Given the description of an element on the screen output the (x, y) to click on. 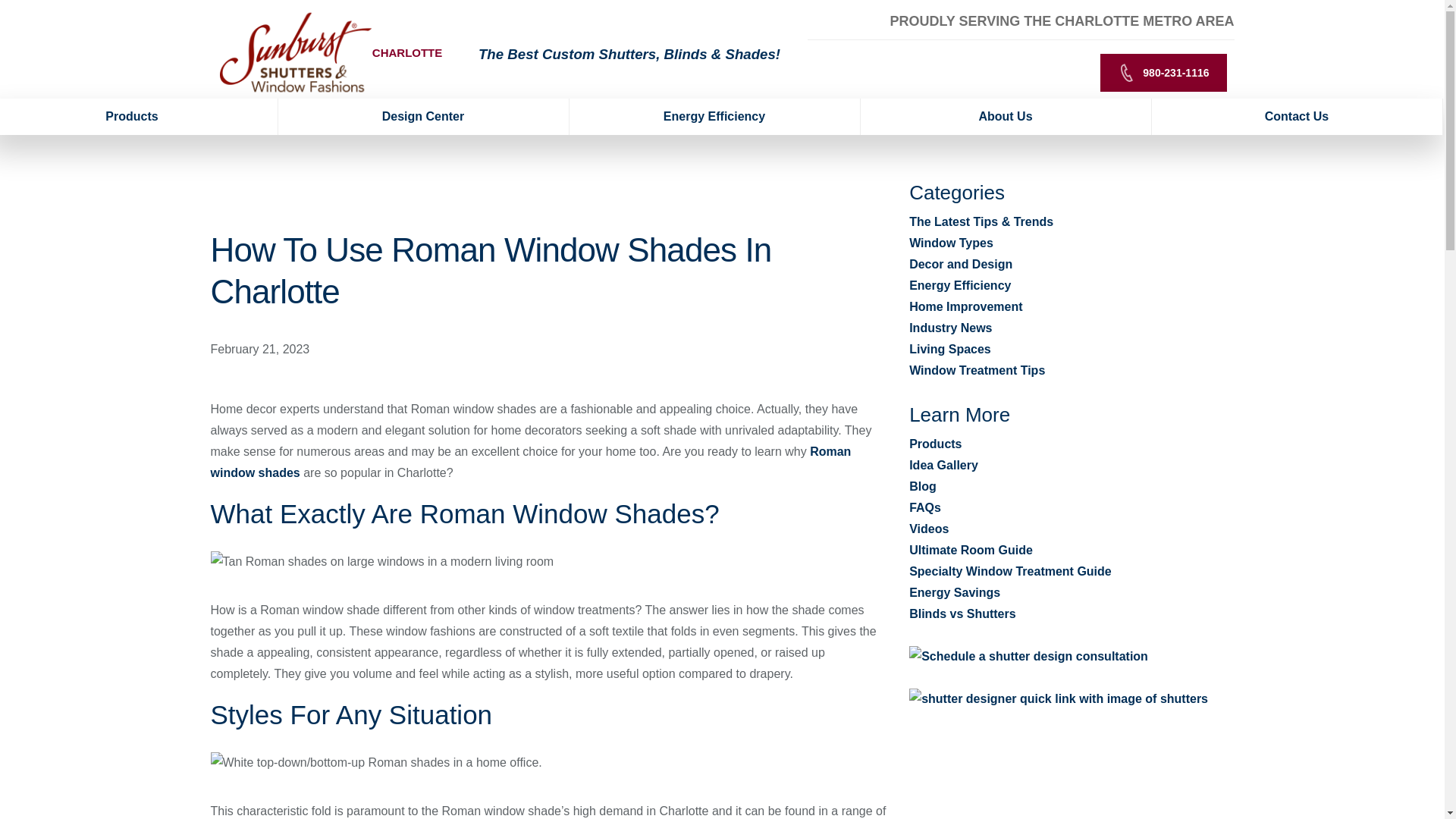
Design Center (423, 116)
Sunburst Shutters Charlotte Home (295, 52)
Roman window shades are both beautiful and functional. (382, 561)
980-231-1116 (1162, 72)
Roman window shades (531, 462)
Products (139, 116)
